Given the description of an element on the screen output the (x, y) to click on. 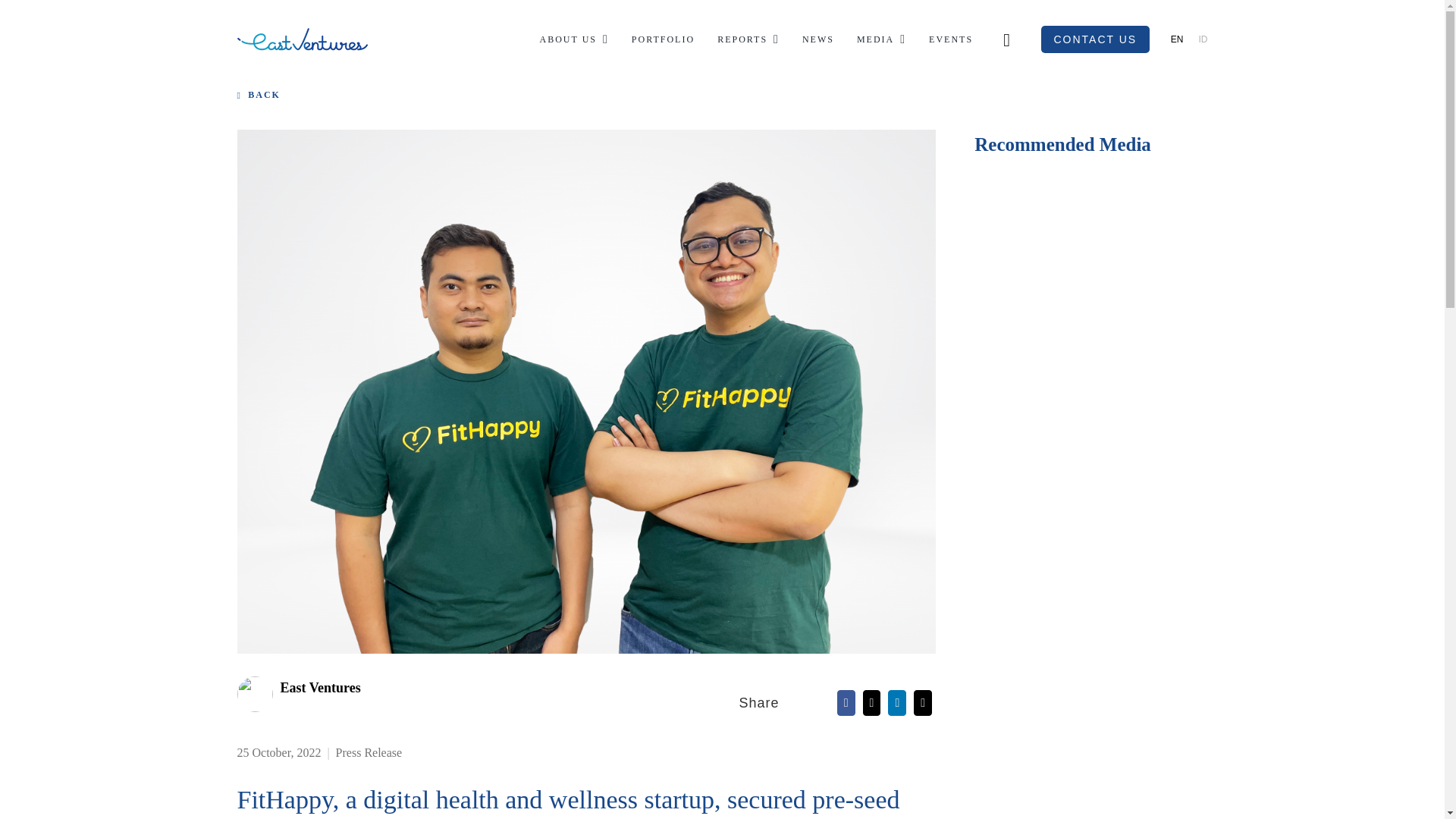
BACK (268, 94)
CONTACT US (1095, 39)
EN (1176, 38)
PORTFOLIO (662, 39)
REPORTS (747, 39)
NEWS (818, 39)
ABOUT US (574, 39)
MEDIA (881, 39)
EVENTS (950, 39)
Contact Us (1095, 39)
